Given the description of an element on the screen output the (x, y) to click on. 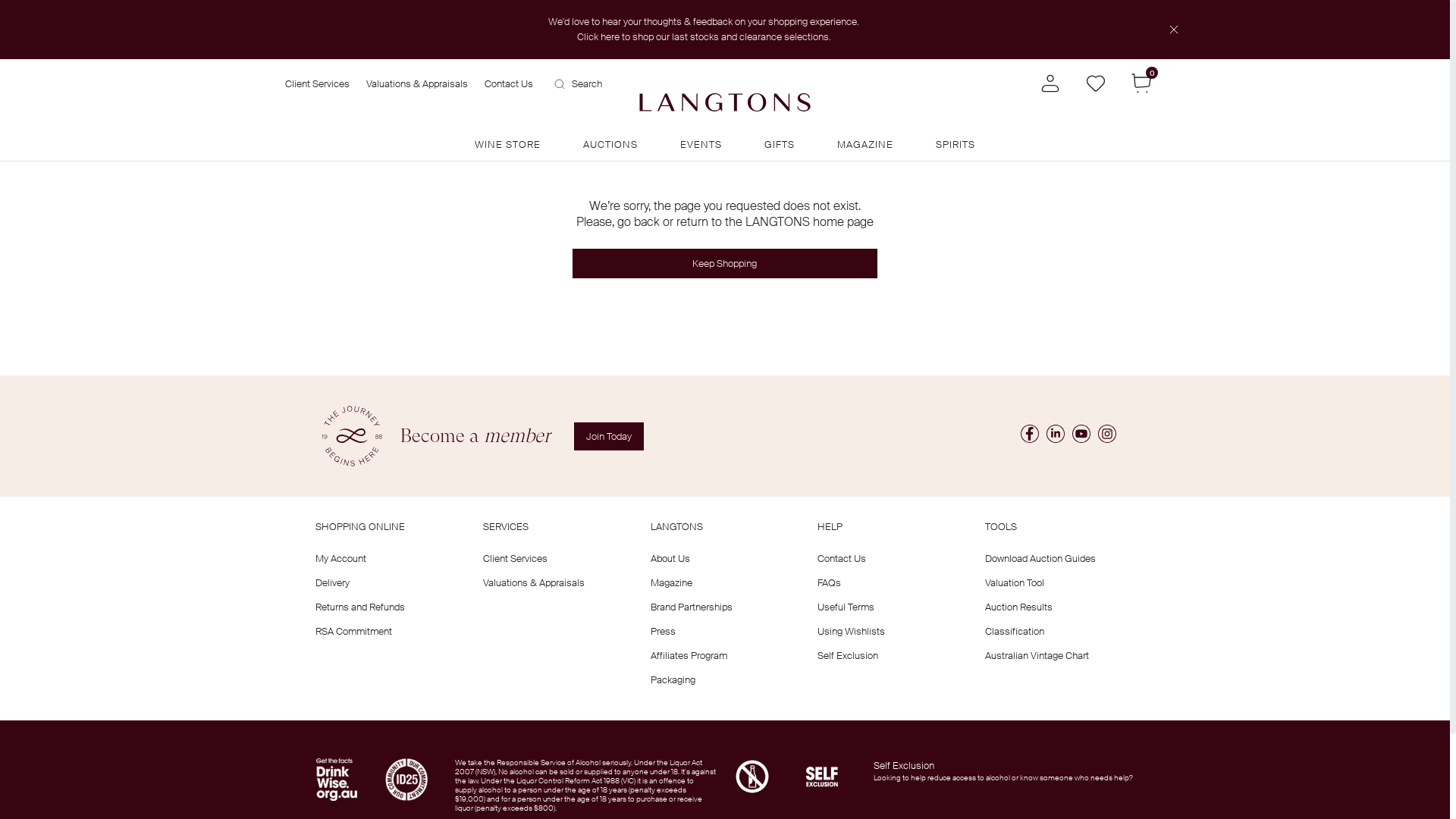
Australian Vintage Chart Element type: text (1036, 655)
Contact Us Element type: text (841, 558)
Classification Element type: text (1014, 630)
Join Today Element type: text (608, 436)
FAQs Element type: text (828, 582)
Valuation Tool Element type: text (1014, 582)
WINE STORE Element type: text (507, 144)
Magazine Element type: text (671, 582)
Auction Results Element type: text (1018, 606)
Download Auction Guides Element type: text (1040, 558)
Client Services Element type: text (515, 558)
Useful Terms Element type: text (845, 606)
Press Element type: text (662, 630)
MAGAZINE Element type: text (864, 144)
Keep Shopping Element type: text (725, 263)
Self Exclusion Element type: text (903, 765)
EVENTS Element type: text (700, 144)
Valuations & Appraisals Element type: text (417, 86)
Self Exclusion Element type: text (847, 655)
My Account Element type: text (340, 558)
Brand Partnerships Element type: text (691, 606)
Contact Us Element type: text (508, 86)
Packaging Element type: text (672, 679)
0 Element type: text (1141, 81)
Valuations & Appraisals Element type: text (533, 582)
Delivery Element type: text (332, 582)
About Us Element type: text (670, 558)
GIFTS Element type: text (779, 144)
Commerce Cloud Storefront Reference Architecture Home Element type: hover (724, 100)
AUCTIONS Element type: text (609, 144)
Search Element type: text (577, 86)
Client Services Element type: text (316, 86)
Affiliates Program Element type: text (688, 655)
SPIRITS Element type: text (955, 144)
Click here to shop our last stocks and clearance selections. Element type: text (704, 36)
Returns and Refunds Element type: text (359, 606)
RSA Commitment Element type: text (353, 630)
Wishlist Element type: hover (1095, 81)
Using Wishlists Element type: text (850, 630)
